Given the description of an element on the screen output the (x, y) to click on. 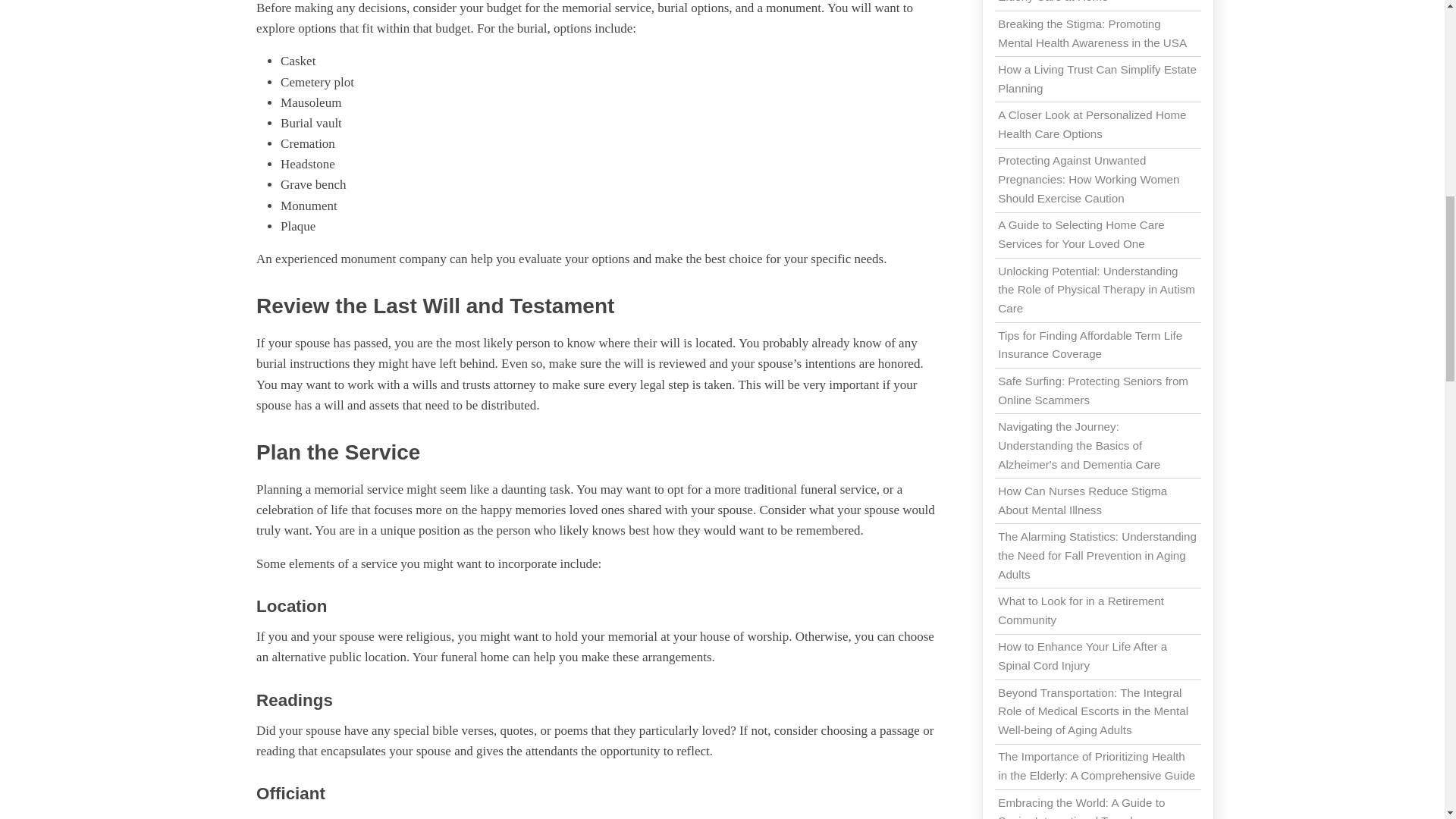
A Closer Look at Personalized Home Health Care Options (1091, 124)
Tips for Finding Affordable Term Life Insurance Coverage (1089, 345)
How a Living Trust Can Simplify Estate Planning (1096, 79)
A Guide to Selecting Home Care Services for Your Loved One (1080, 234)
Nurturing Independence: A Guide to Elderly Care at Home (1088, 2)
Safe Surfing: Protecting Seniors from Online Scammers (1092, 390)
